Given the description of an element on the screen output the (x, y) to click on. 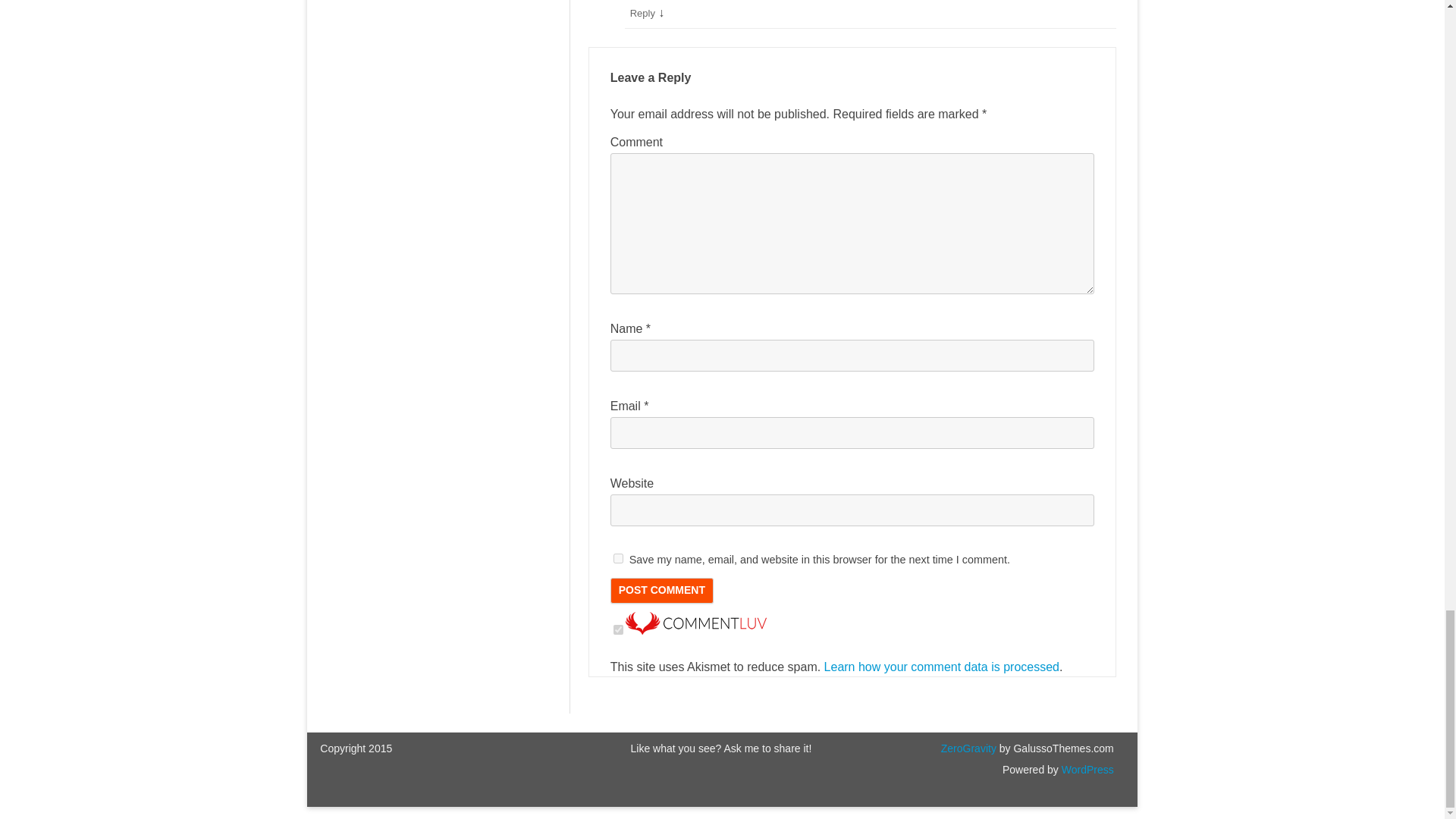
yes (617, 558)
CommentLuv is enabled (696, 630)
Semantic Personal Publishing Platform (1085, 769)
Post Comment (661, 590)
on (617, 629)
